Given the description of an element on the screen output the (x, y) to click on. 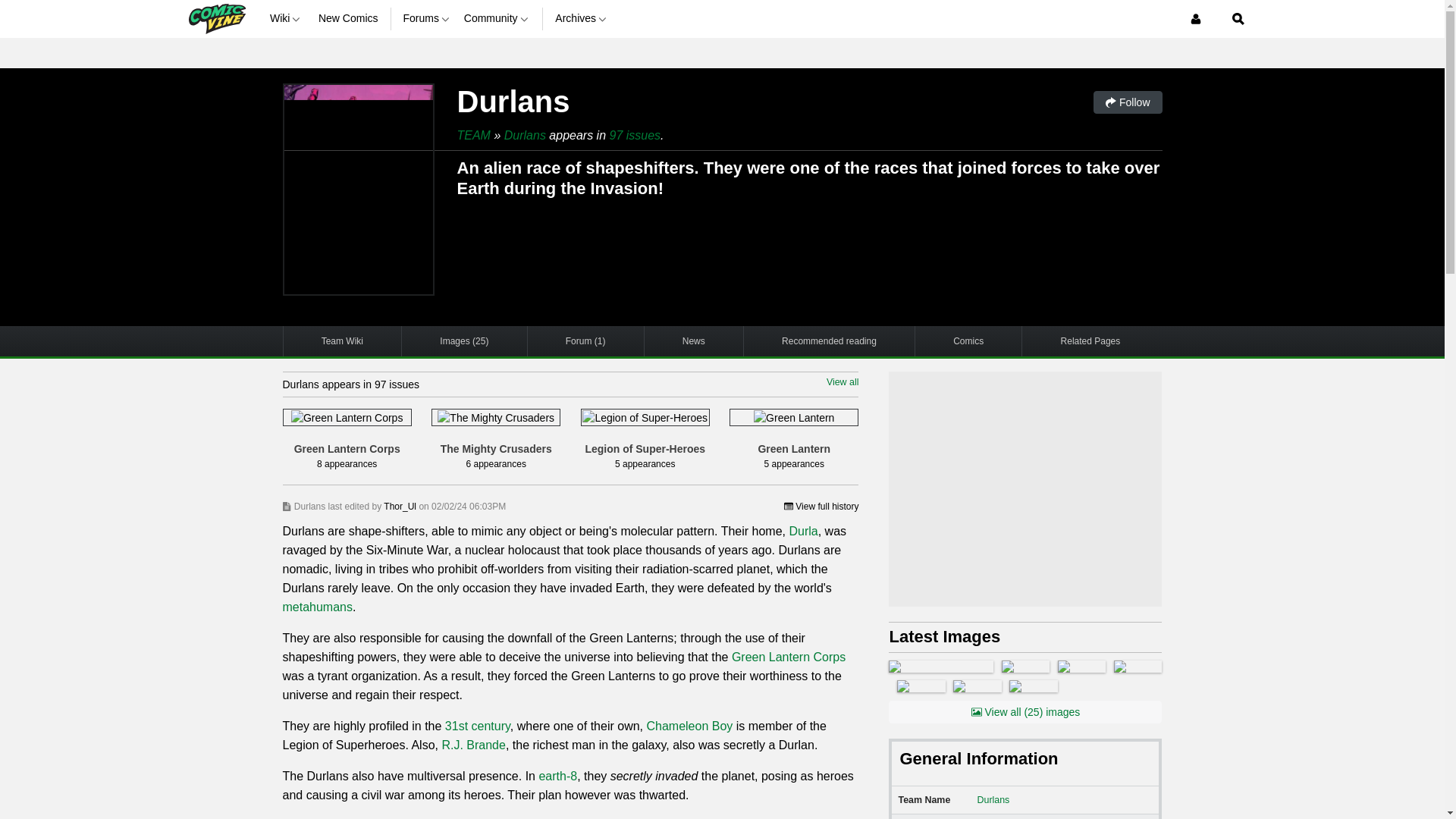
New Comics (348, 18)
Wiki (287, 18)
Comic Vine (215, 18)
Forums (427, 18)
Community (497, 18)
